Given the description of an element on the screen output the (x, y) to click on. 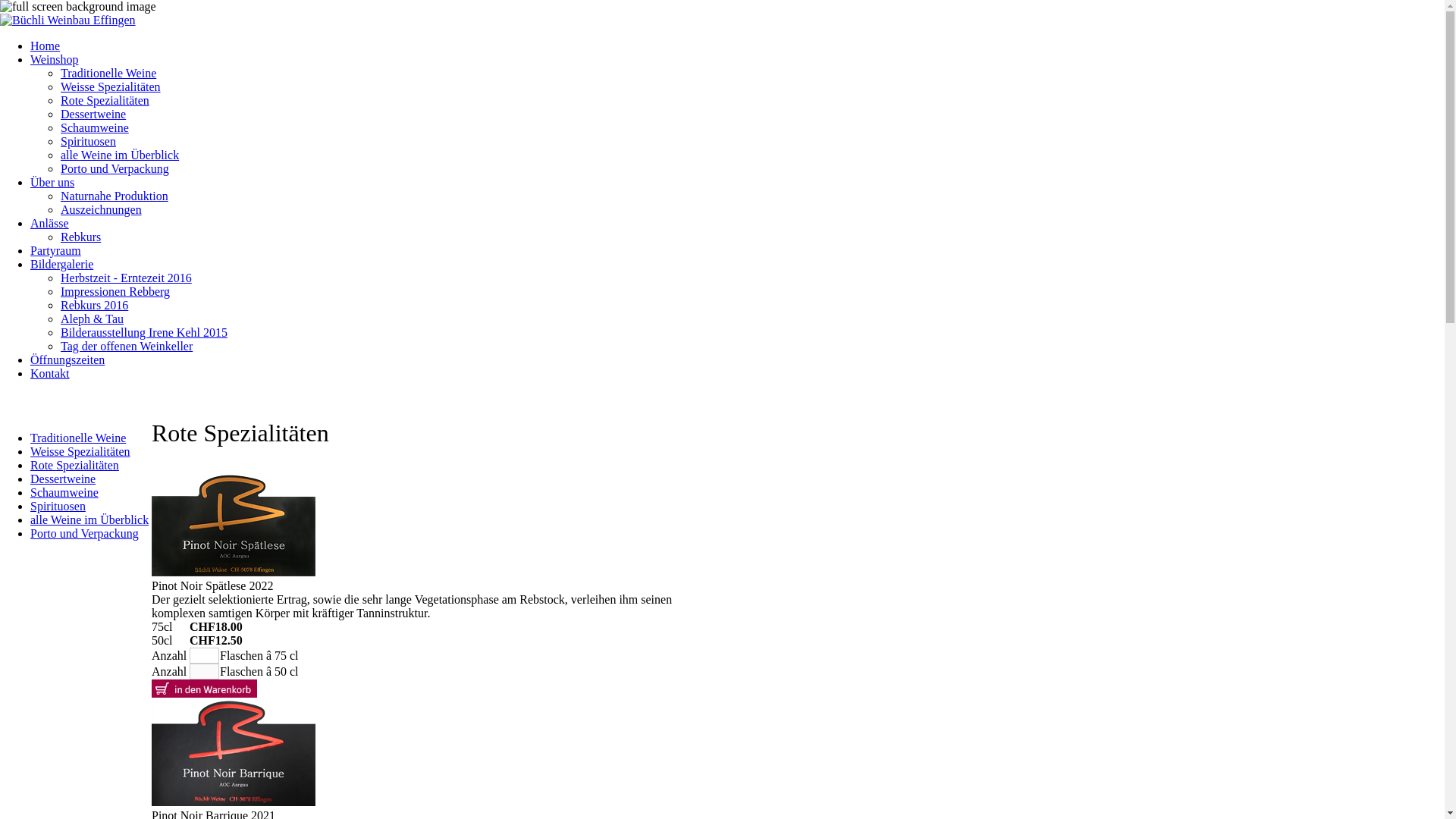
Porto und Verpackung Element type: text (114, 168)
Traditionelle Weine Element type: text (77, 437)
Auszeichnungen Element type: text (100, 209)
Naturnahe Produktion Element type: text (114, 195)
Tag der offenen Weinkeller Element type: text (126, 345)
Spirituosen Element type: text (57, 505)
Spirituosen Element type: text (88, 140)
Weinshop Element type: text (54, 59)
Traditionelle Weine Element type: text (108, 72)
Dessertweine Element type: text (92, 113)
Bildergalerie Element type: text (61, 263)
Schaumweine Element type: text (94, 127)
Home Element type: text (44, 45)
Partyraum Element type: text (55, 250)
Rebkurs Element type: text (80, 236)
Schaumweine Element type: text (64, 492)
Impressionen Rebberg Element type: text (114, 291)
Rebkurs 2016 Element type: text (94, 304)
Kontakt Element type: text (49, 373)
Dessertweine Element type: text (62, 478)
Aleph & Tau Element type: text (91, 318)
Bilderausstellung Irene Kehl 2015 Element type: text (143, 332)
Porto und Verpackung Element type: text (84, 533)
Herbstzeit - Erntezeit 2016 Element type: text (125, 277)
